Given the description of an element on the screen output the (x, y) to click on. 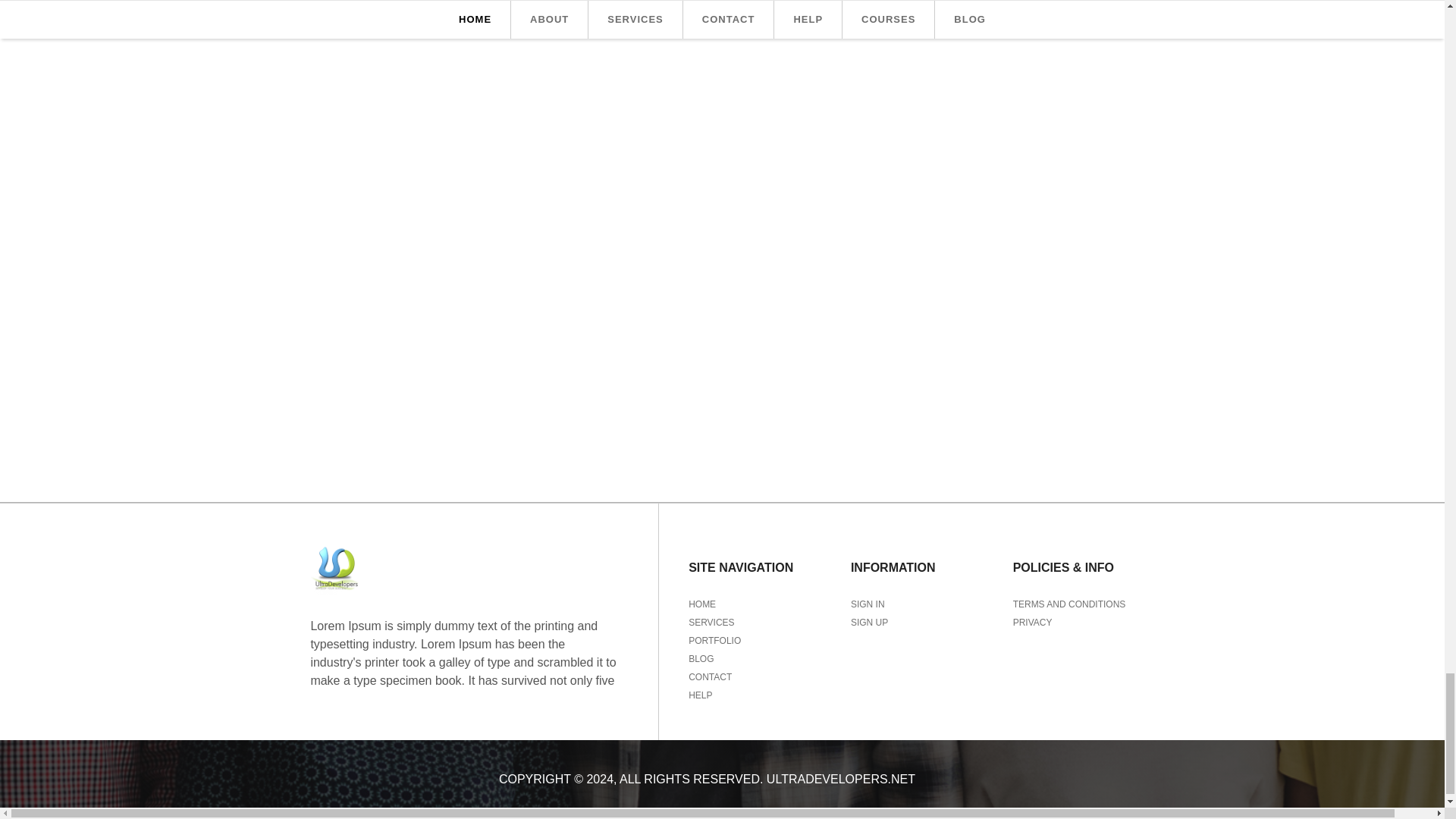
SERVICES (710, 622)
HELP (699, 695)
PRIVACY (1032, 622)
SIGN IN (867, 603)
SIGN UP (869, 622)
BLOG (700, 658)
CONTACT (710, 676)
TERMS AND CONDITIONS (1069, 603)
HOME (702, 603)
PORTFOLIO (714, 640)
